Given the description of an element on the screen output the (x, y) to click on. 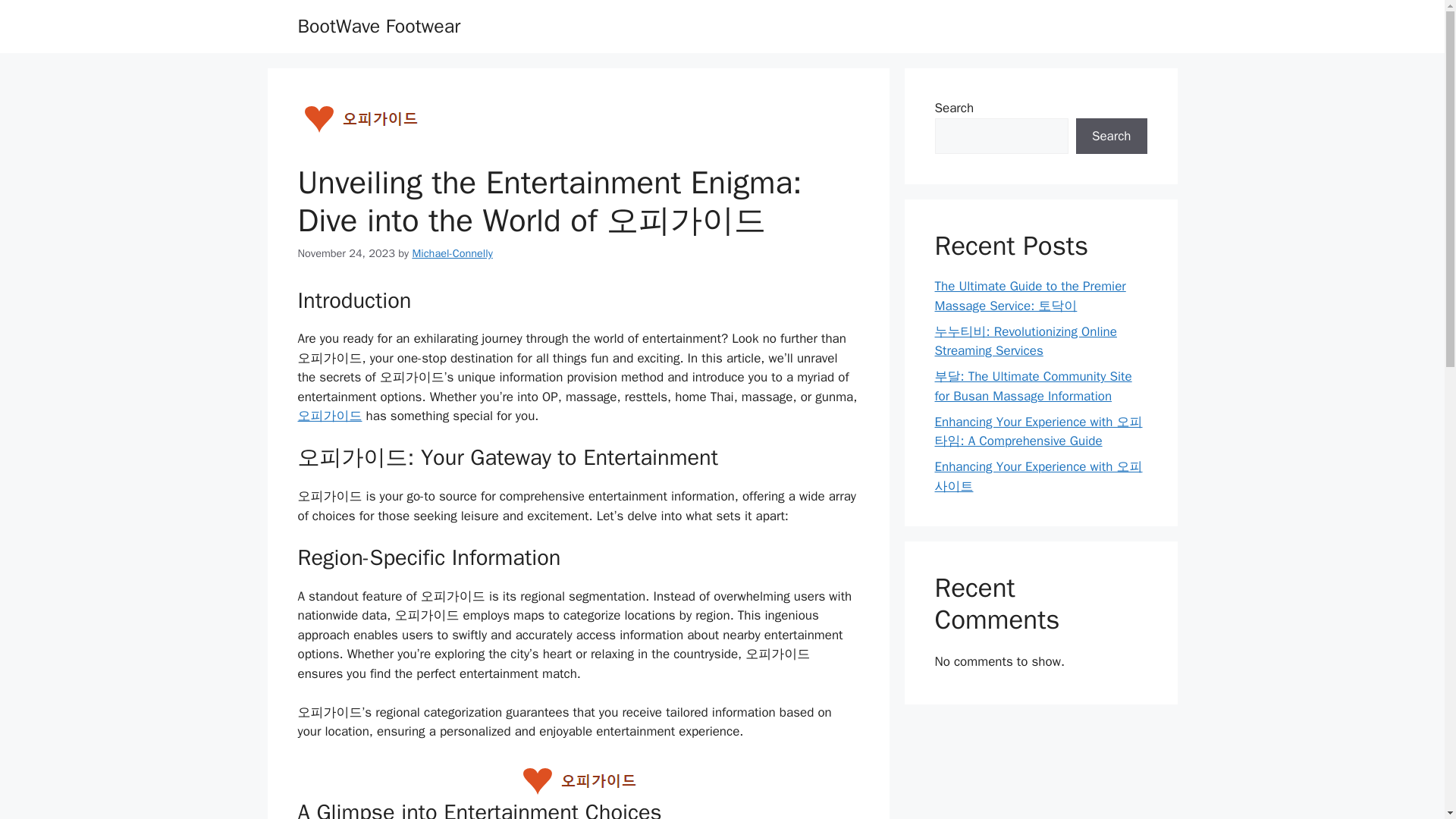
View all posts by Michael-Connelly (452, 253)
Michael-Connelly (452, 253)
BootWave Footwear (378, 25)
Search (1111, 135)
